Given the description of an element on the screen output the (x, y) to click on. 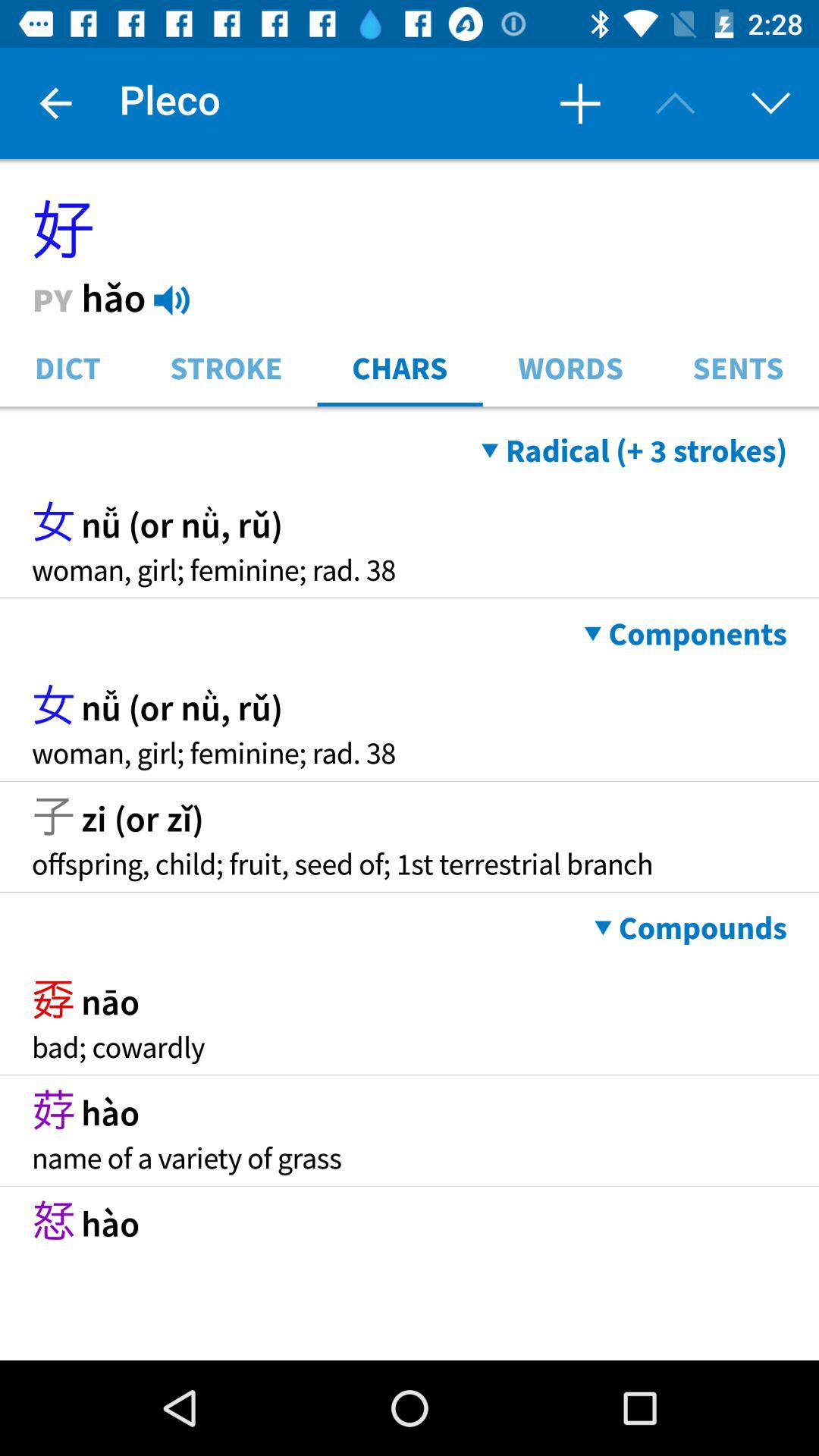
open the item next to the chars icon (226, 366)
